Given the description of an element on the screen output the (x, y) to click on. 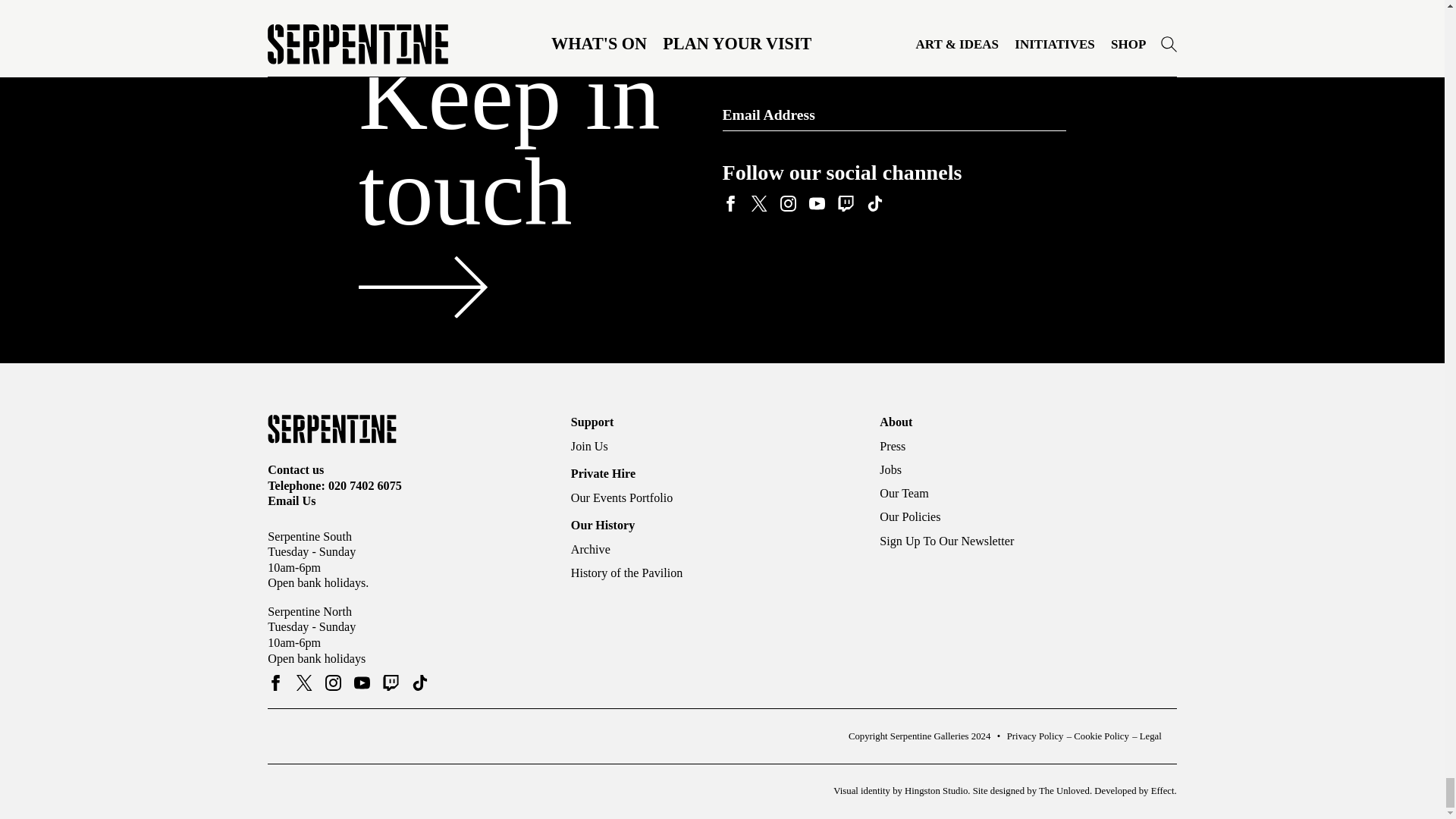
Instagram (332, 683)
Sign Up (1045, 114)
Instagram (786, 203)
Facebook (275, 683)
Tiktok (874, 203)
Twitch (845, 203)
Twitter (759, 203)
Facebook (730, 203)
Twitter (305, 683)
Youtube (816, 203)
Email Address (893, 115)
